Given the description of an element on the screen output the (x, y) to click on. 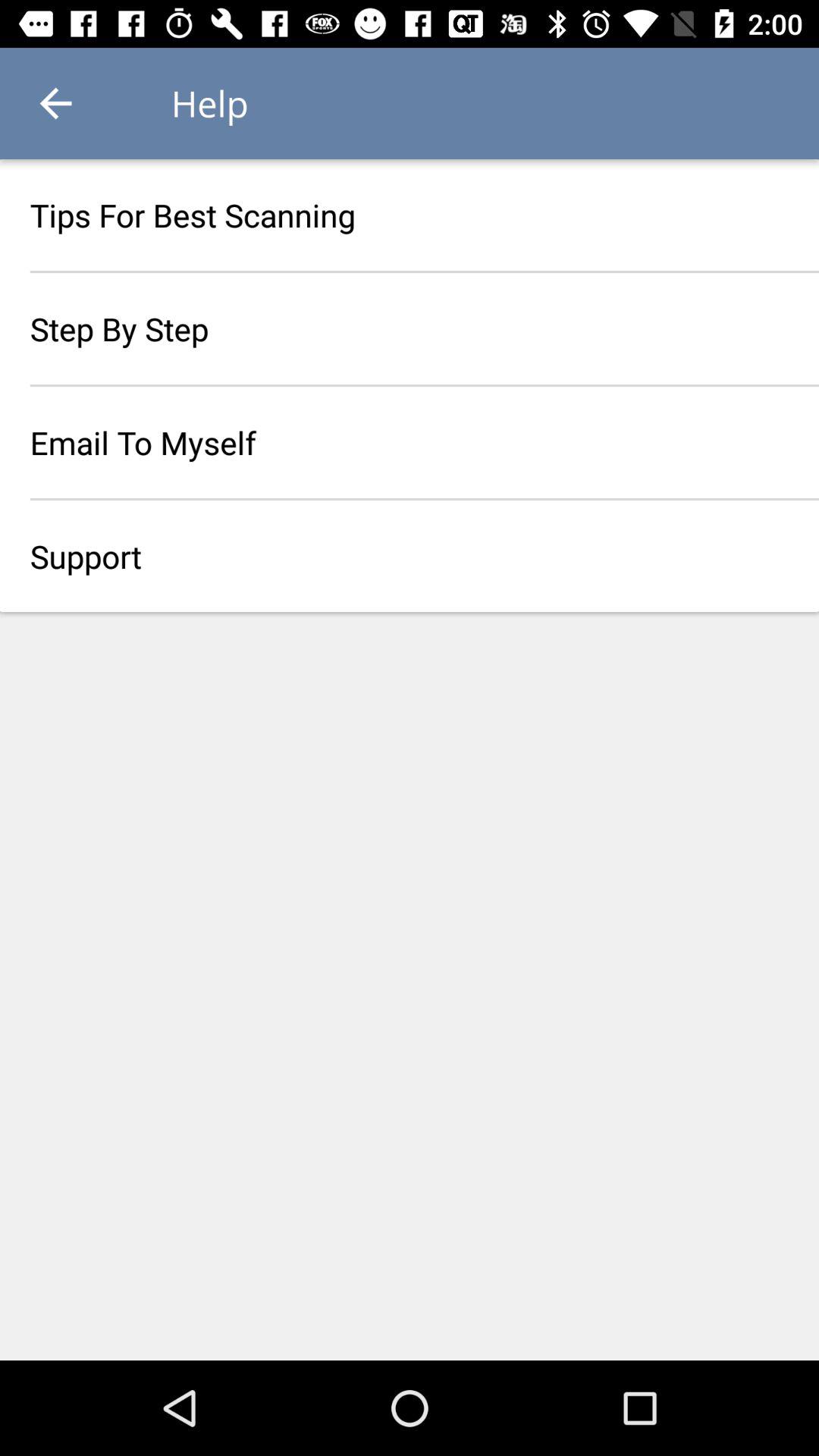
flip to step by step (409, 328)
